Given the description of an element on the screen output the (x, y) to click on. 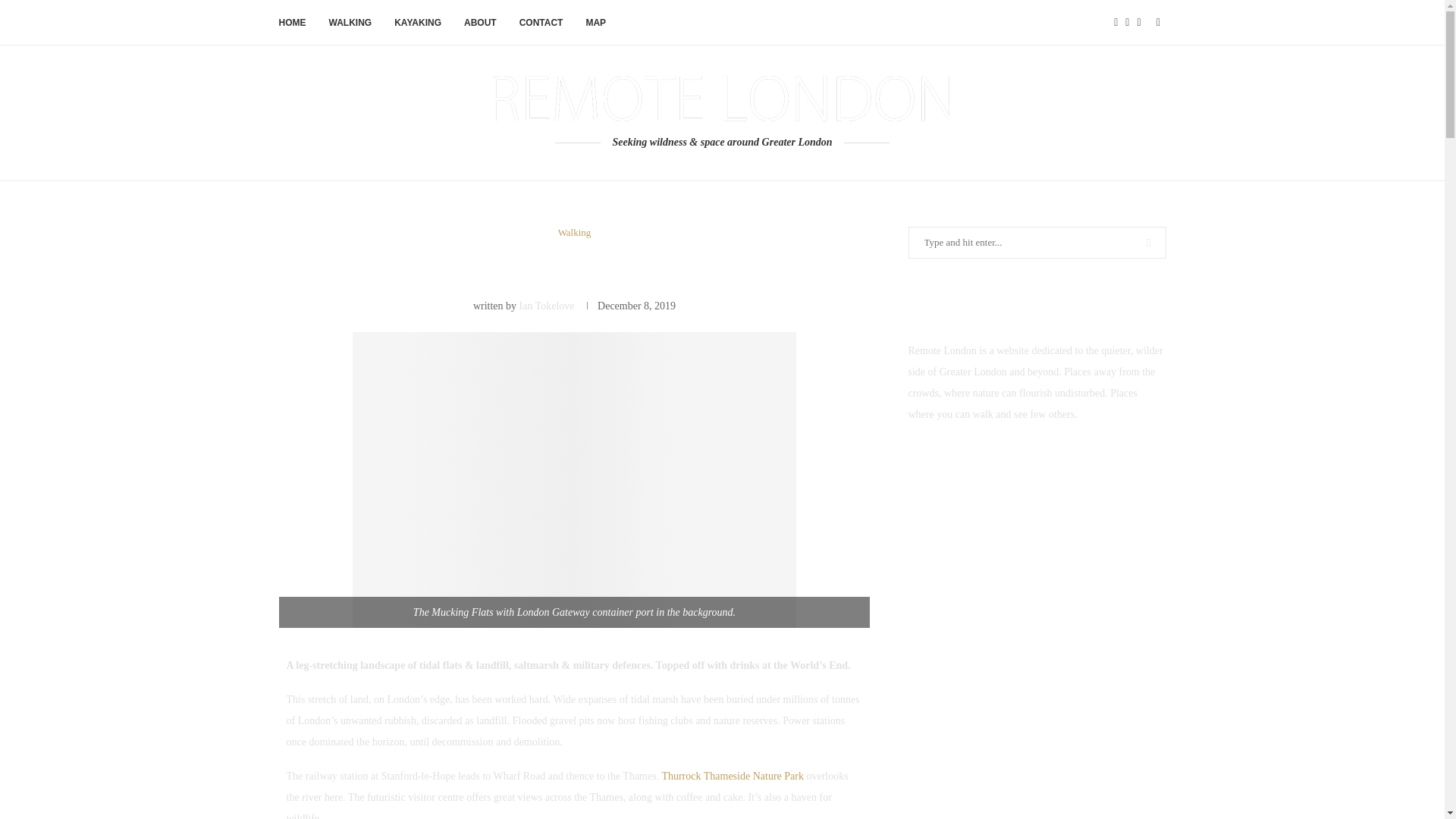
CONTACT (541, 22)
Thurrock Thameside Nature Park (732, 776)
KAYAKING (417, 22)
Ian Tokelove (547, 306)
Walking (574, 232)
WALKING (350, 22)
gateway-horizon-mud (574, 480)
